Given the description of an element on the screen output the (x, y) to click on. 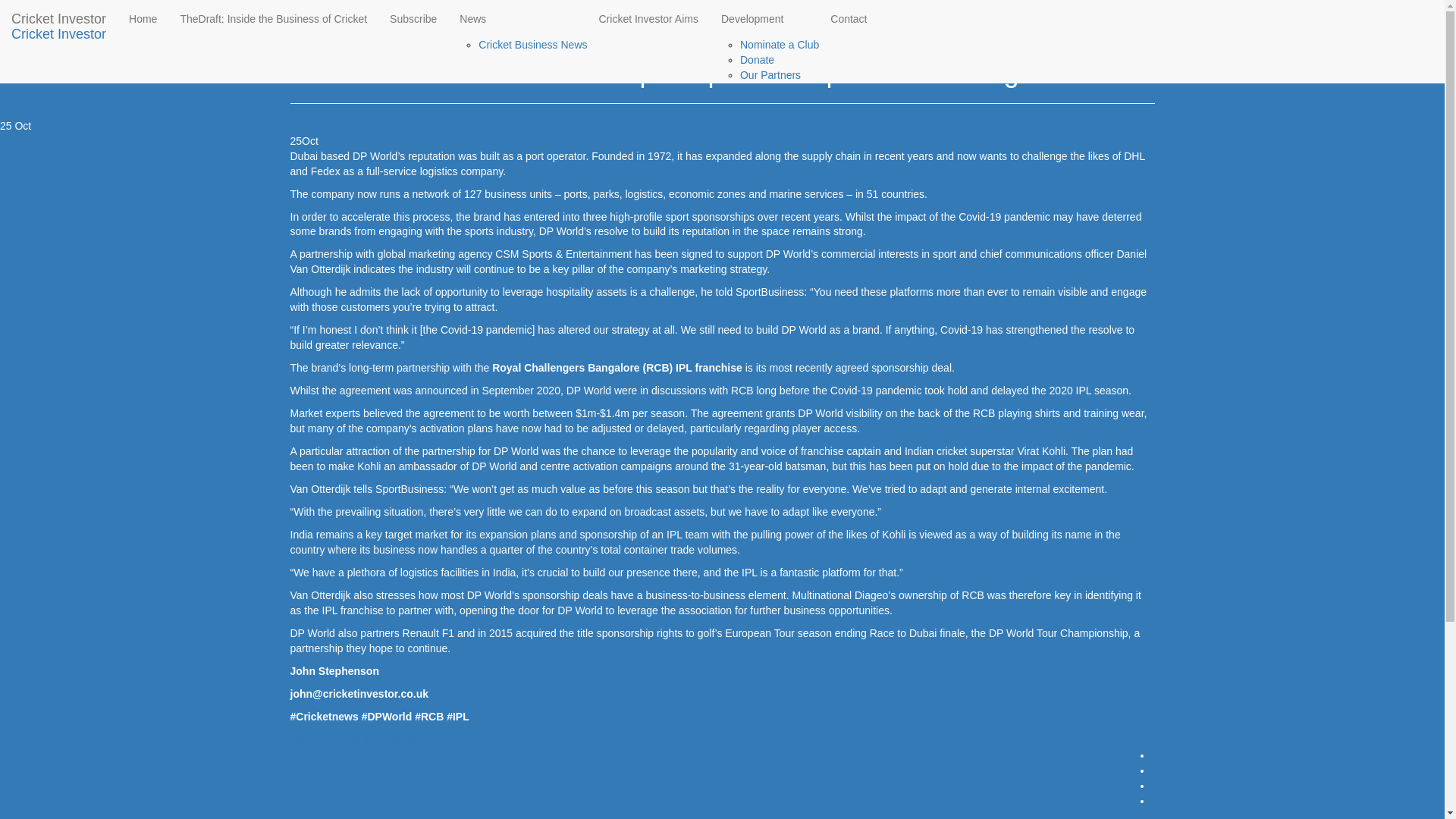
Cricket Investor (58, 34)
Cricket Investor (58, 18)
TheDraft: Inside the Business of Cricket (273, 18)
Donate (756, 60)
Our Partners (769, 74)
Cricket Investor Aims (647, 18)
Contact (847, 18)
Development   (764, 18)
Cricket Business News (386, 12)
Home (303, 12)
